Given the description of an element on the screen output the (x, y) to click on. 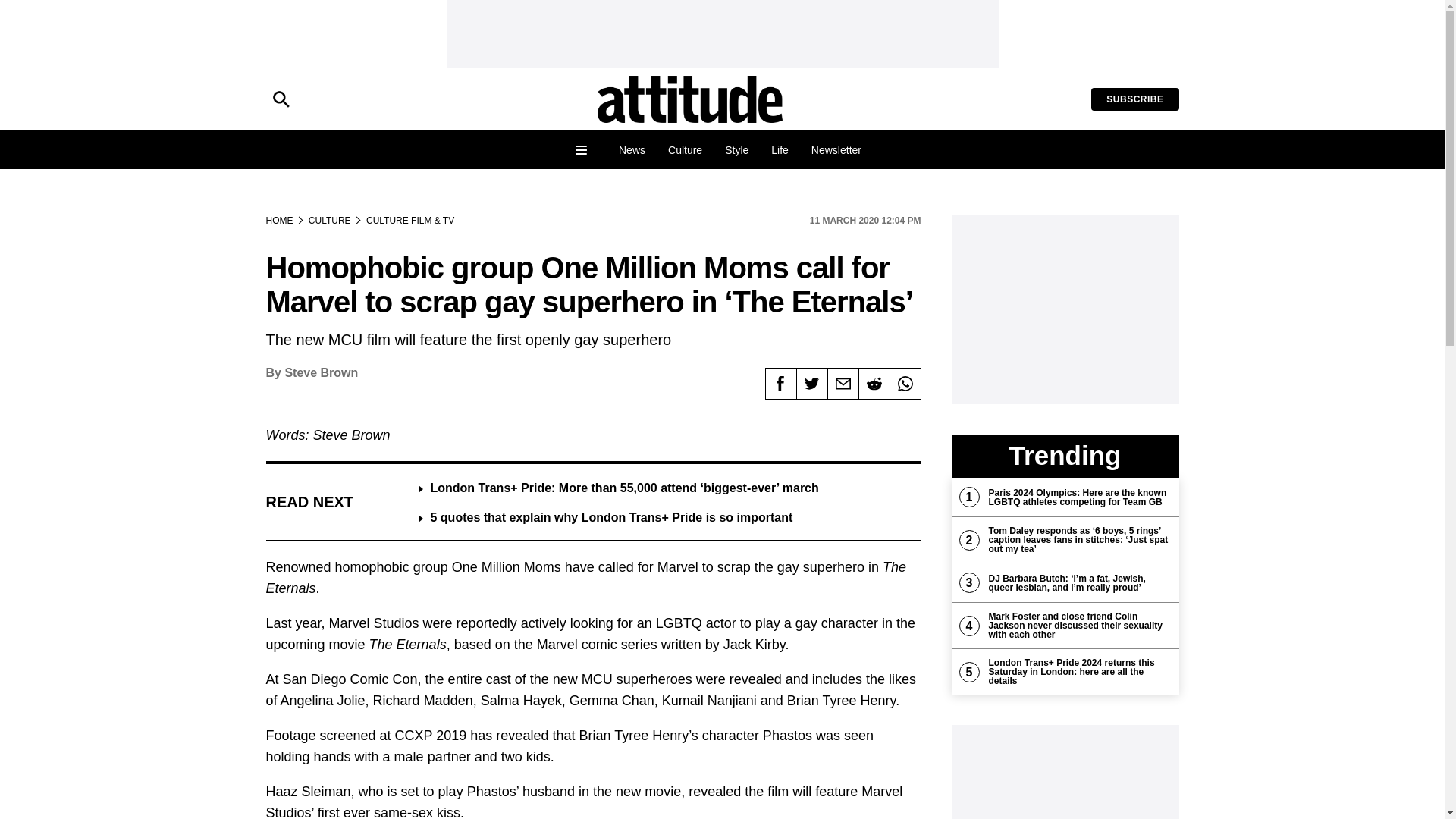
Life (779, 150)
SUBSCRIBE (1134, 99)
News (631, 150)
Skip to main content (61, 10)
3rd party ad content (1063, 771)
Style (736, 150)
Newsletter (835, 150)
Culture (684, 150)
3rd party ad content (1063, 309)
3rd party ad content (721, 33)
Home (689, 99)
